Given the description of an element on the screen output the (x, y) to click on. 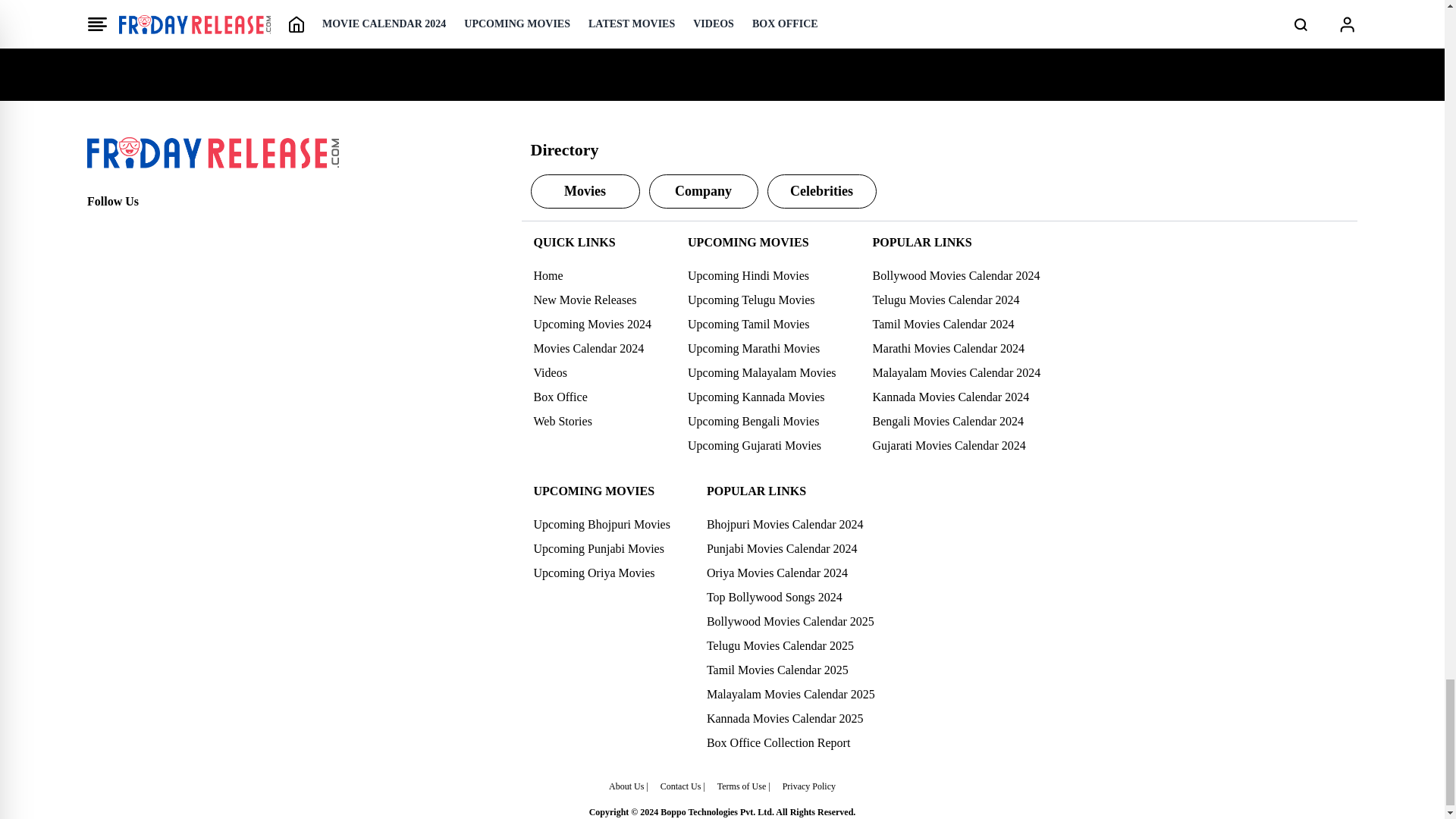
Twitter Page (132, 228)
Youtube Page (199, 228)
Facebook Page (99, 228)
Instagram Page (165, 228)
